Given the description of an element on the screen output the (x, y) to click on. 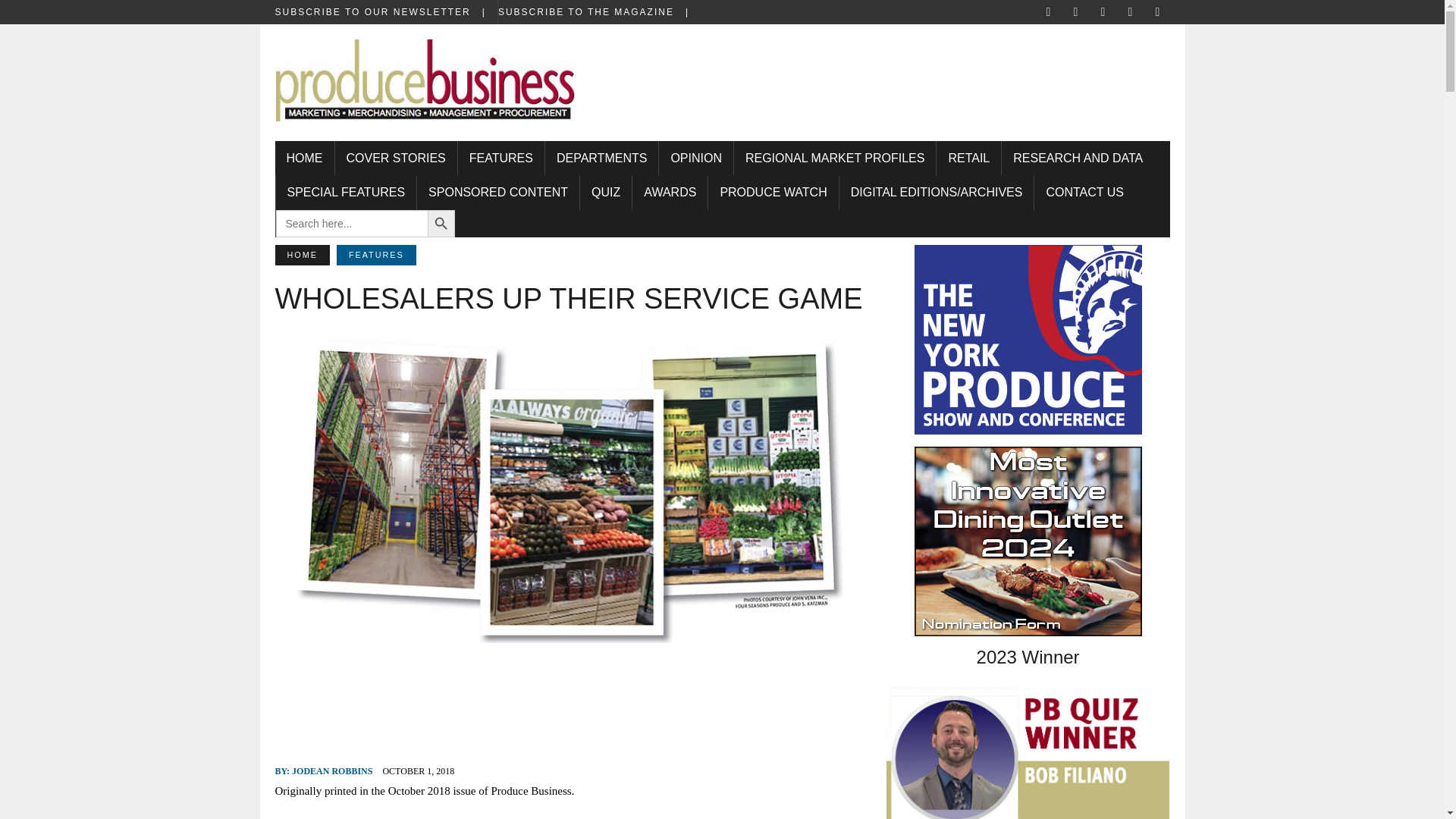
3rd party ad content (890, 73)
SUBSCRIBE TO OUR NEWSLETTER (385, 12)
Produce Business (425, 89)
SUBSCRIBE TO THE MAGAZINE (598, 12)
3rd party ad content (569, 705)
